Given the description of an element on the screen output the (x, y) to click on. 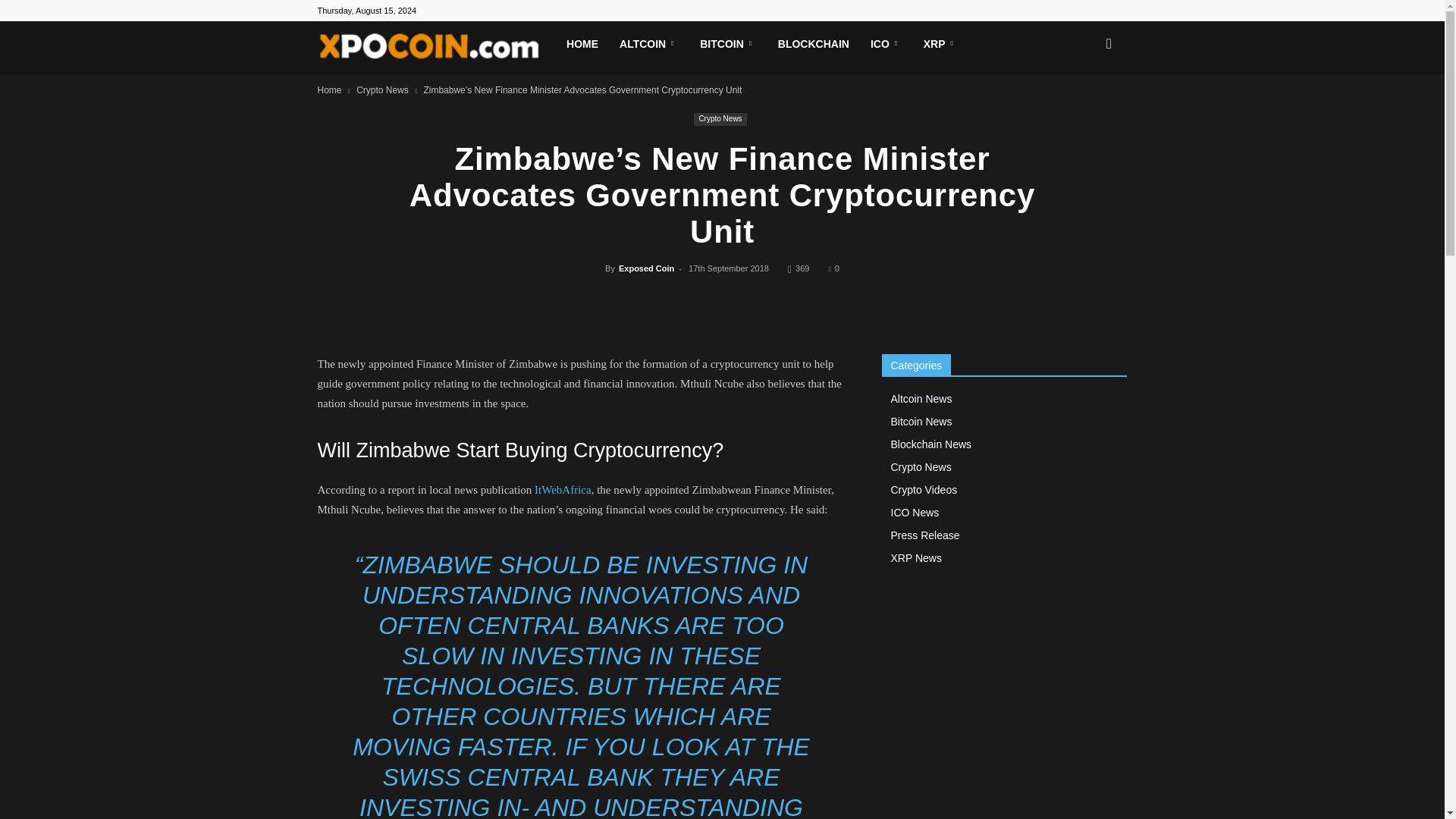
ALTCOIN (648, 43)
XPOCOIN (436, 47)
HOME (582, 43)
BITCOIN (727, 43)
